Given the description of an element on the screen output the (x, y) to click on. 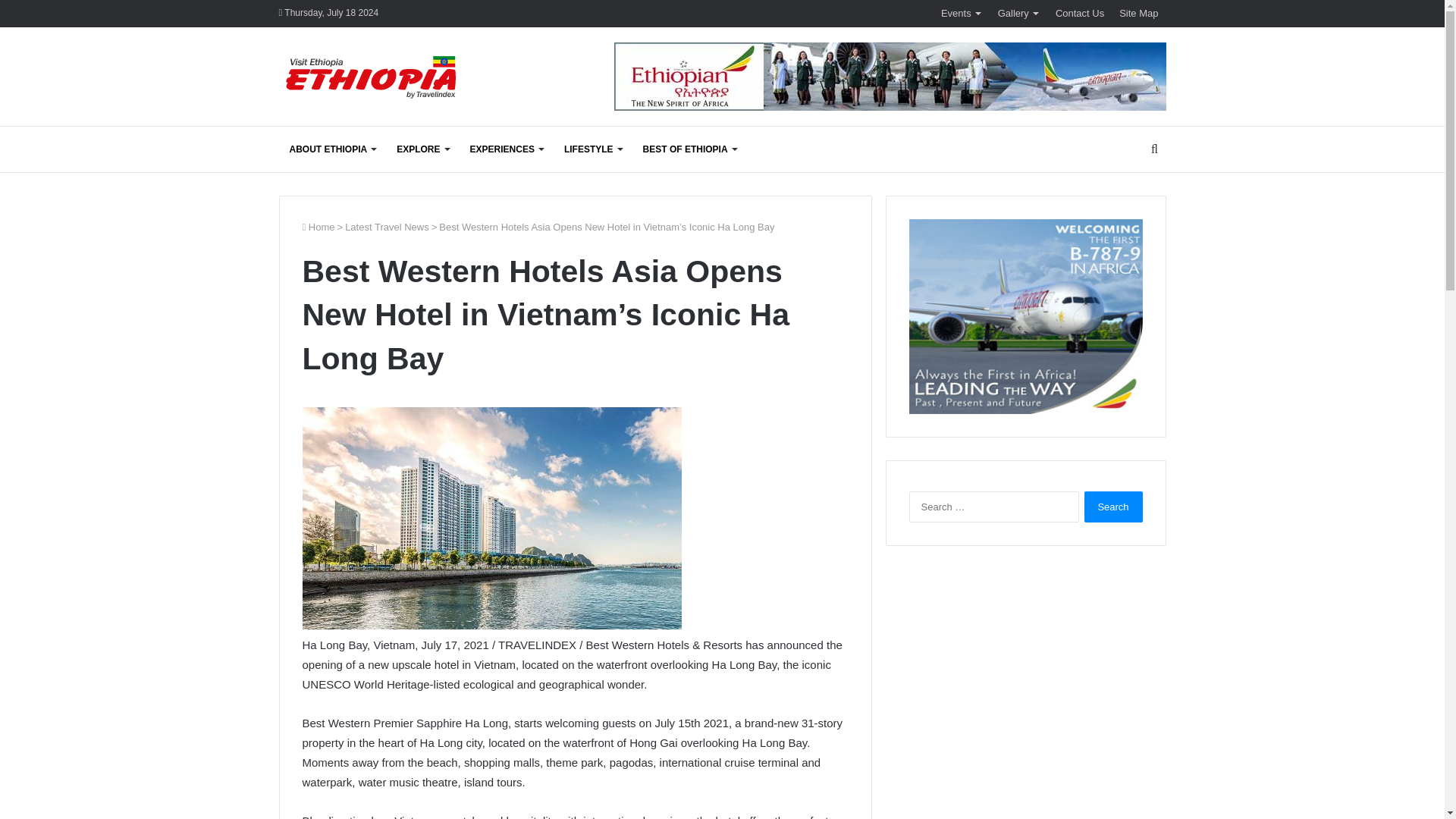
Visit Ethiopia - Land of Experiences (373, 78)
EXPERIENCES (506, 148)
Search (1113, 506)
Events (961, 13)
ABOUT ETHIOPIA (333, 148)
Contact Us (1080, 13)
Site Map (1139, 13)
Search (1113, 506)
Gallery (1019, 13)
EXPLORE (421, 148)
LIFESTYLE (592, 148)
